Given the description of an element on the screen output the (x, y) to click on. 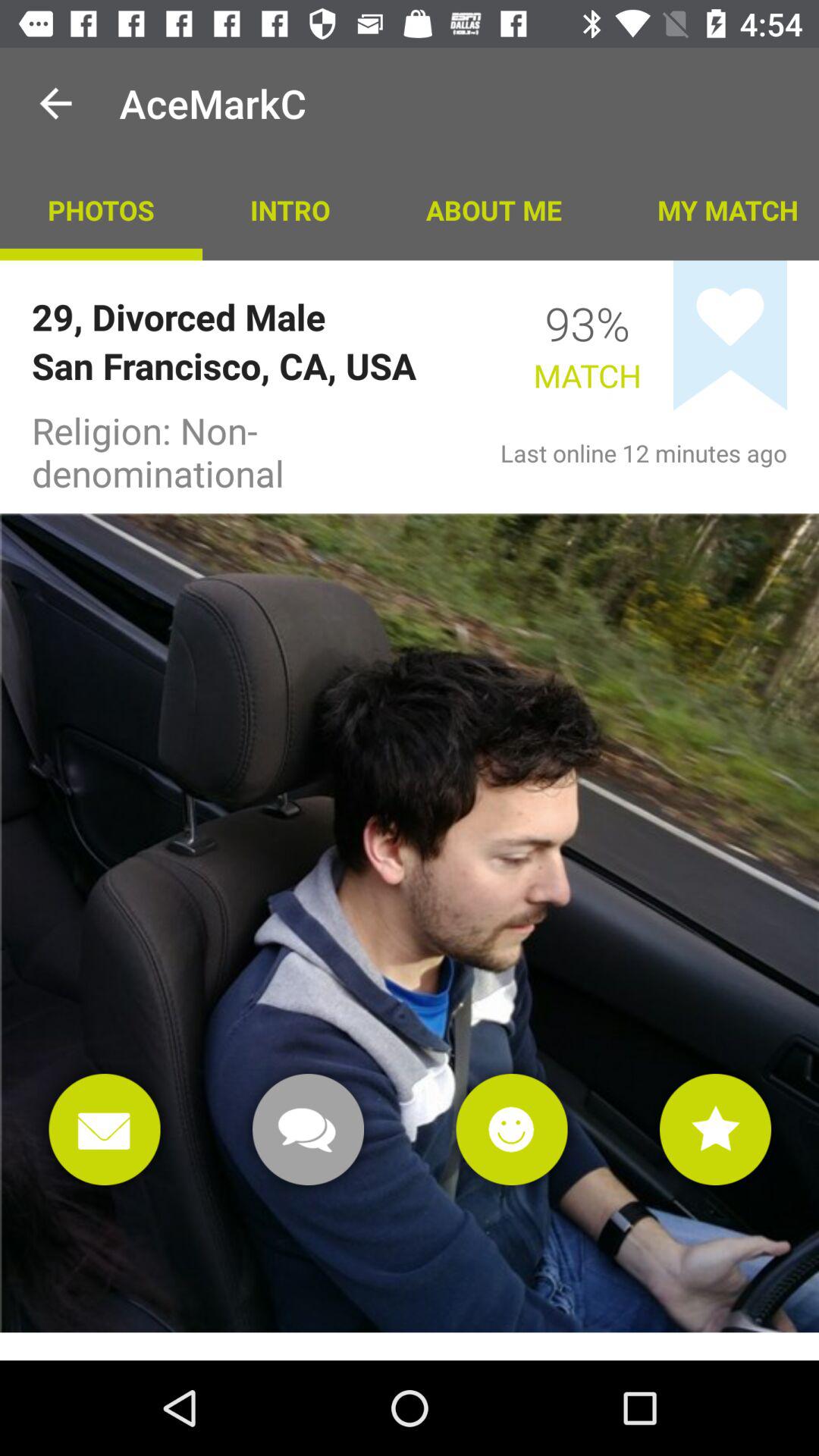
switch favorite (730, 335)
